Given the description of an element on the screen output the (x, y) to click on. 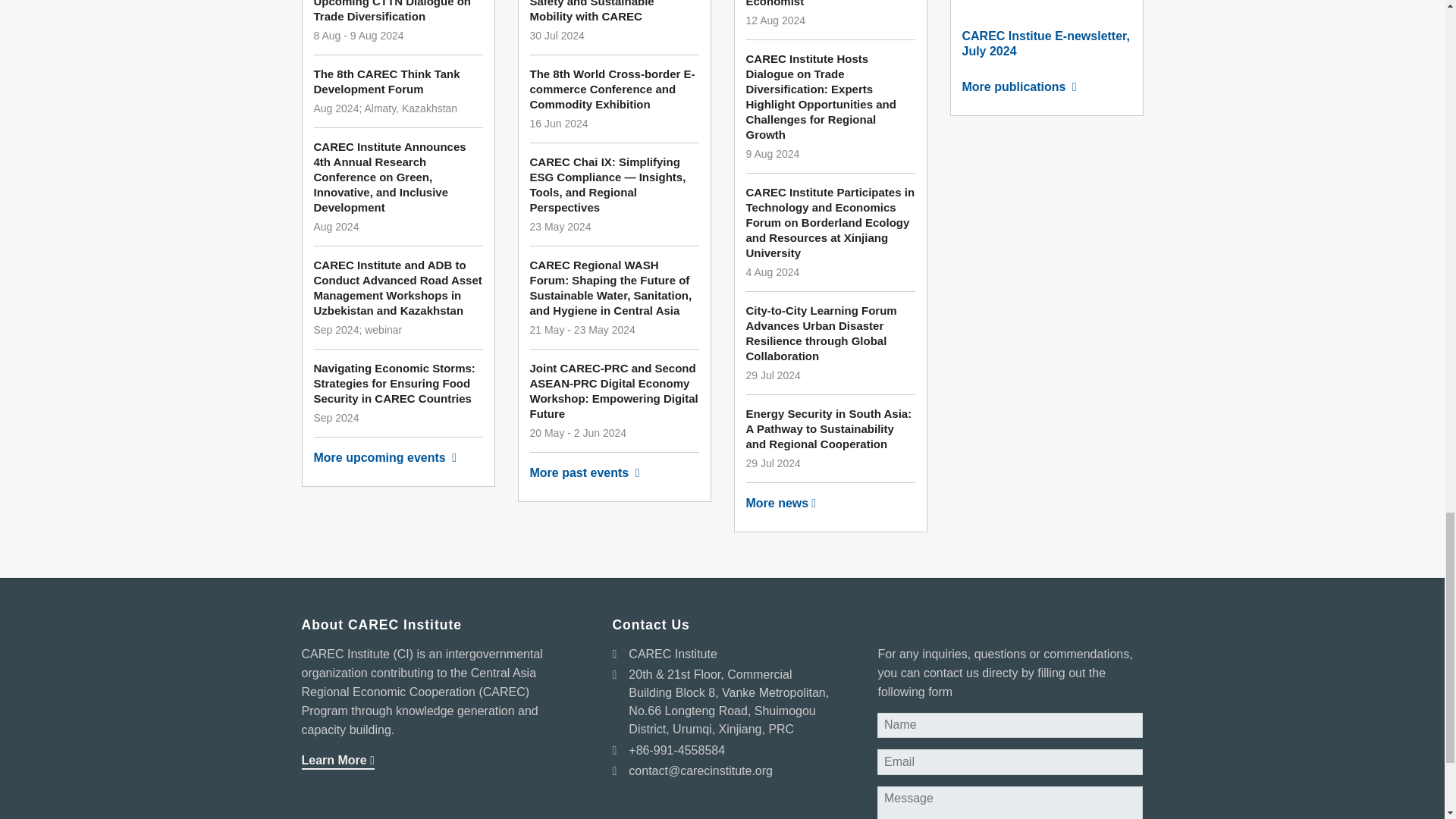
The 8th CAREC Think Tank Development Forum (398, 81)
More past events (613, 473)
